Given the description of an element on the screen output the (x, y) to click on. 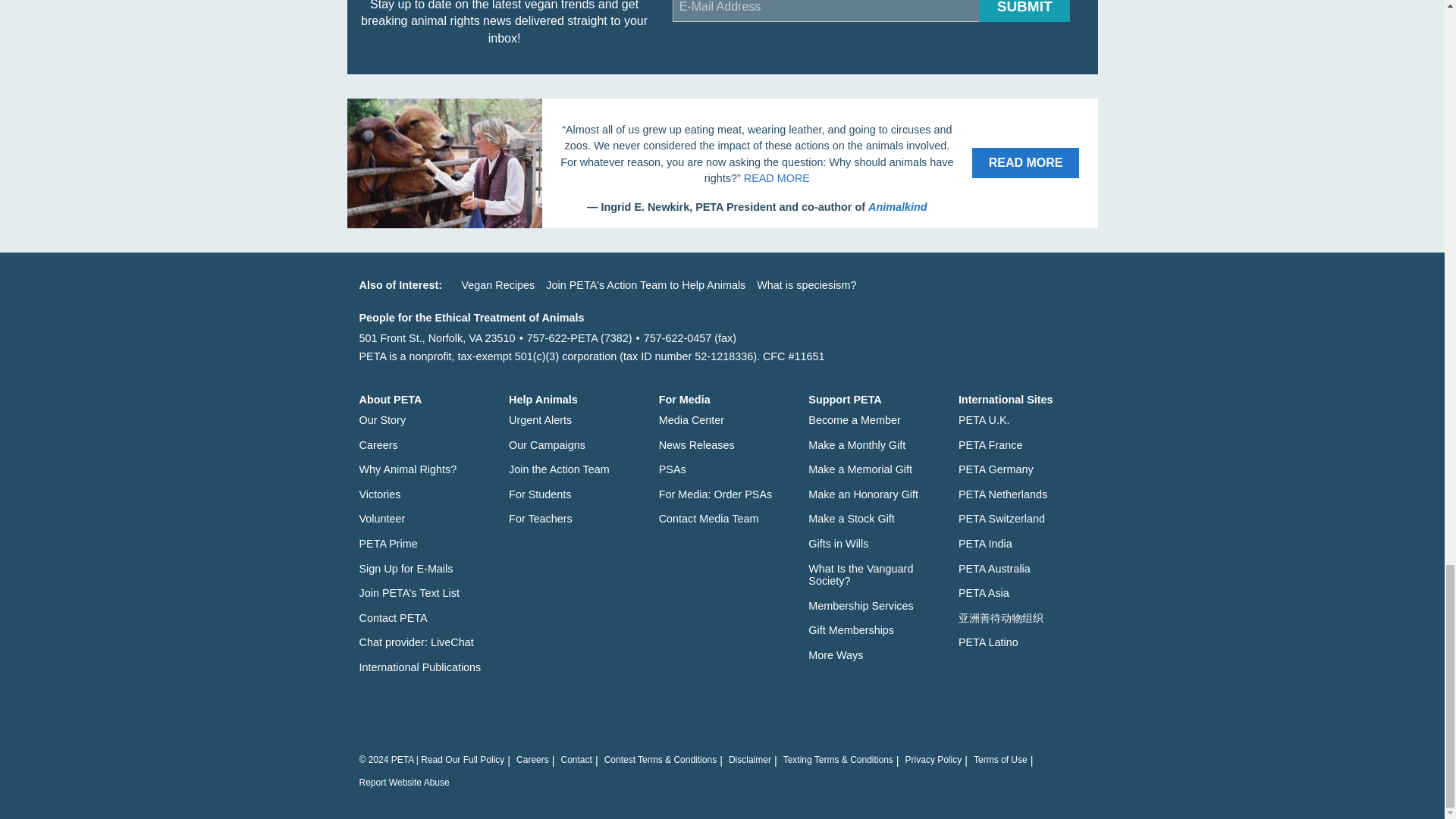
Submit (1024, 11)
